Given the description of an element on the screen output the (x, y) to click on. 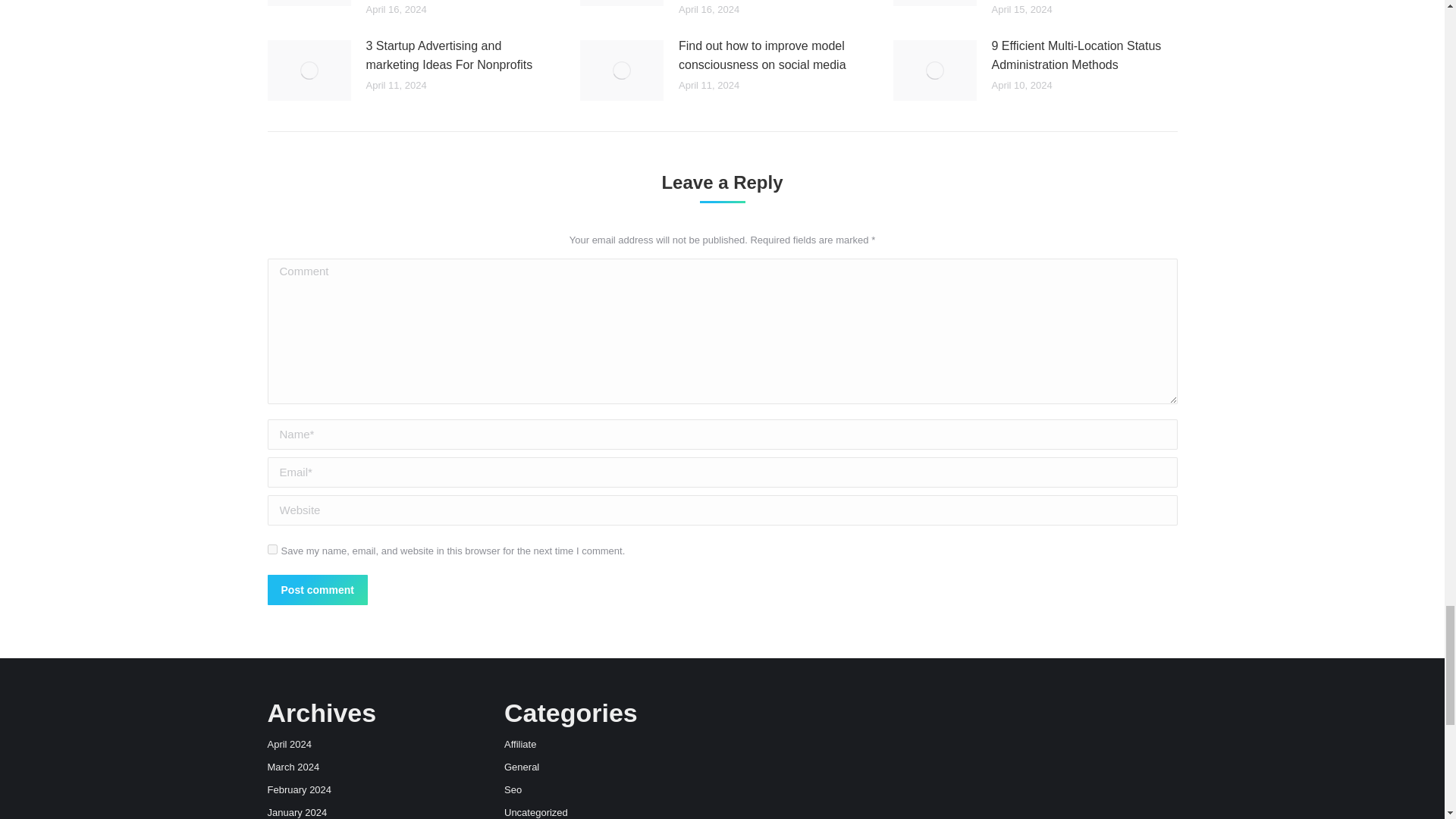
yes (271, 549)
